Given the description of an element on the screen output the (x, y) to click on. 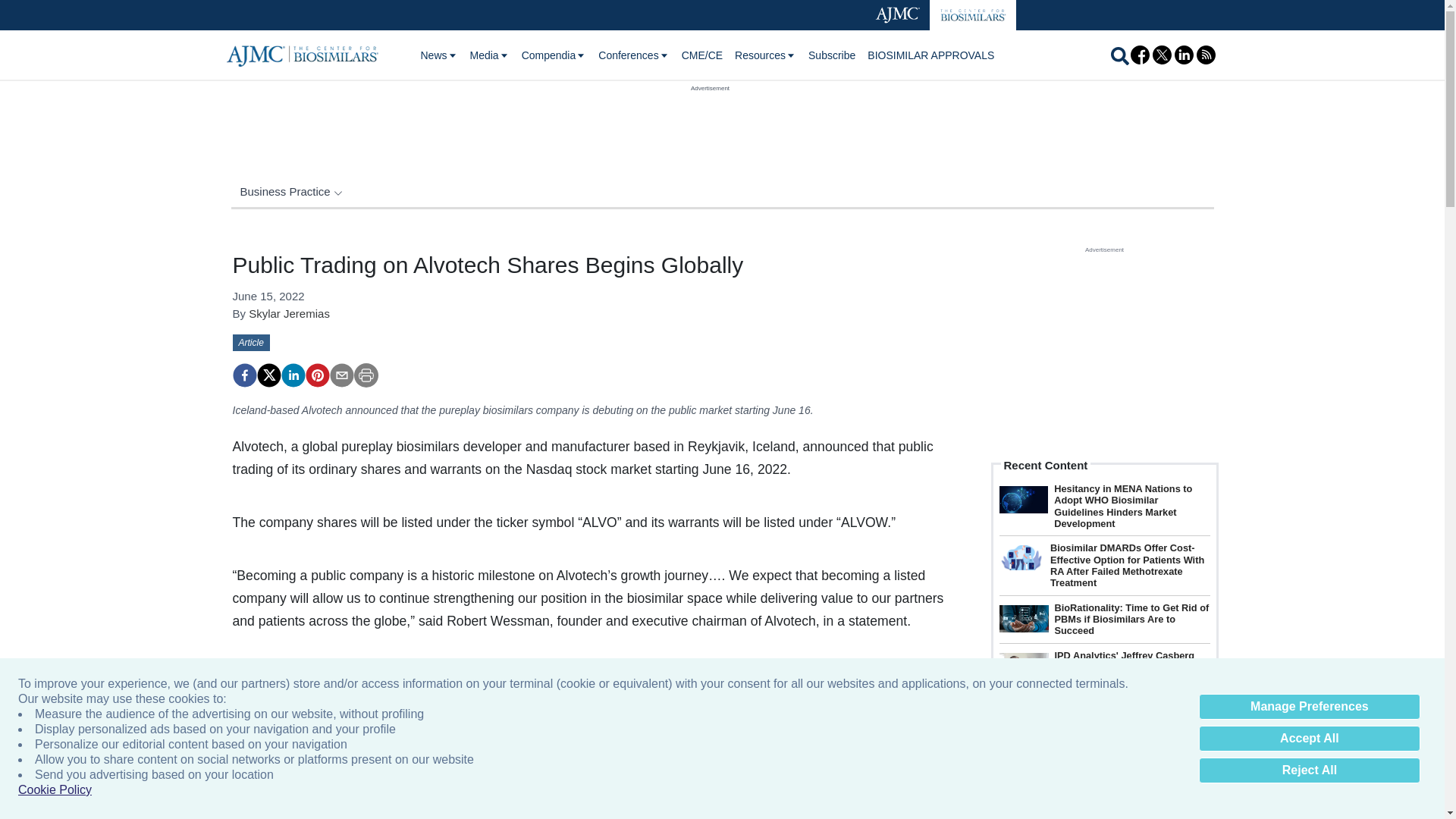
Cookie Policy (54, 789)
Public Trading on Alvotech Shares Begins Globally (243, 375)
Public Trading on Alvotech Shares Begins Globally (316, 375)
Reject All (1309, 769)
Manage Preferences (1309, 706)
3rd party ad content (709, 127)
Accept All (1309, 738)
